Given the description of an element on the screen output the (x, y) to click on. 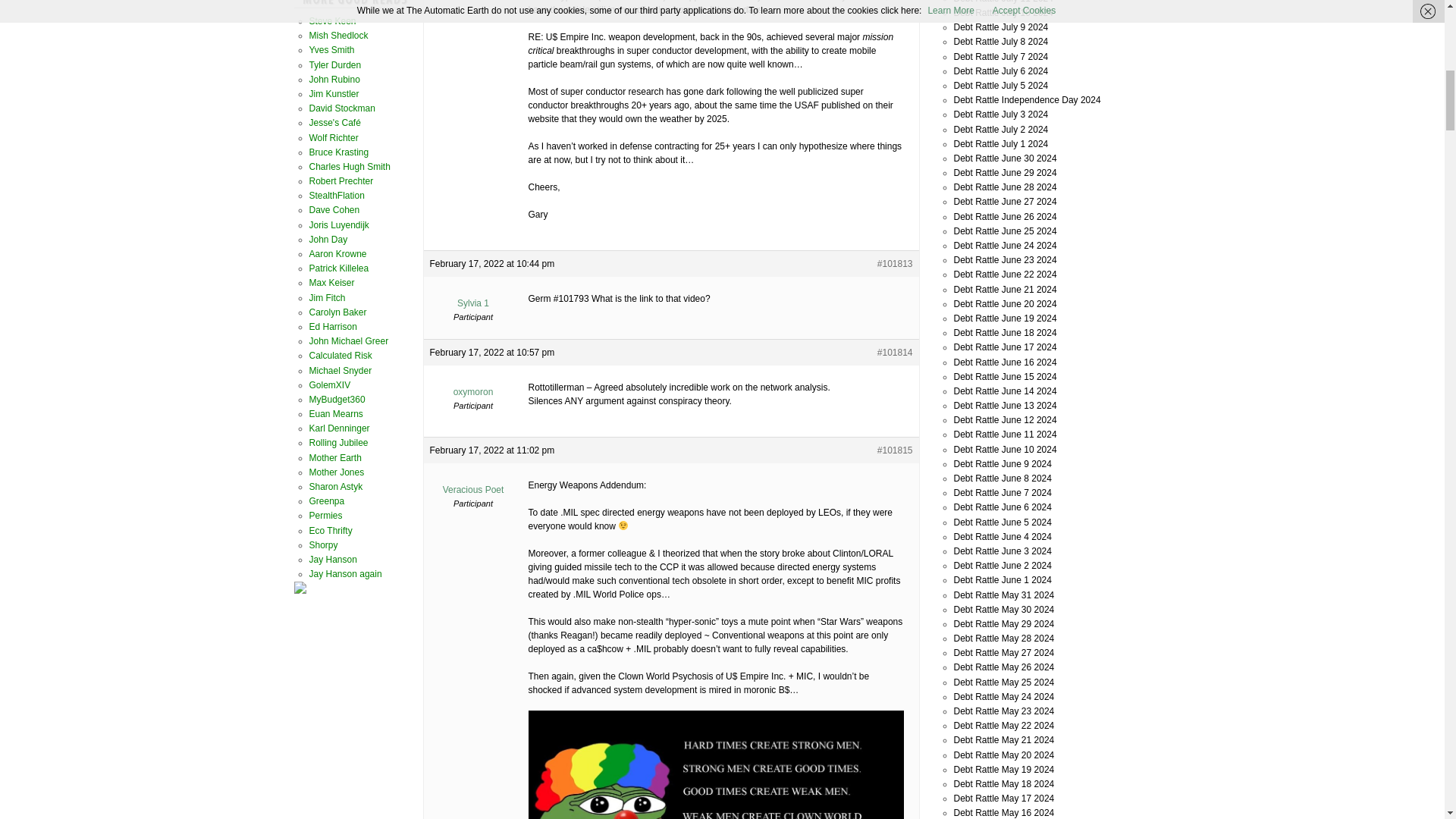
oxymoron (472, 385)
Veracious Poet (472, 483)
View Sylvia 1's profile (472, 297)
Sylvia 1 (472, 297)
View oxymoron's profile (472, 385)
View Veracious Poet's profile (472, 483)
